Given the description of an element on the screen output the (x, y) to click on. 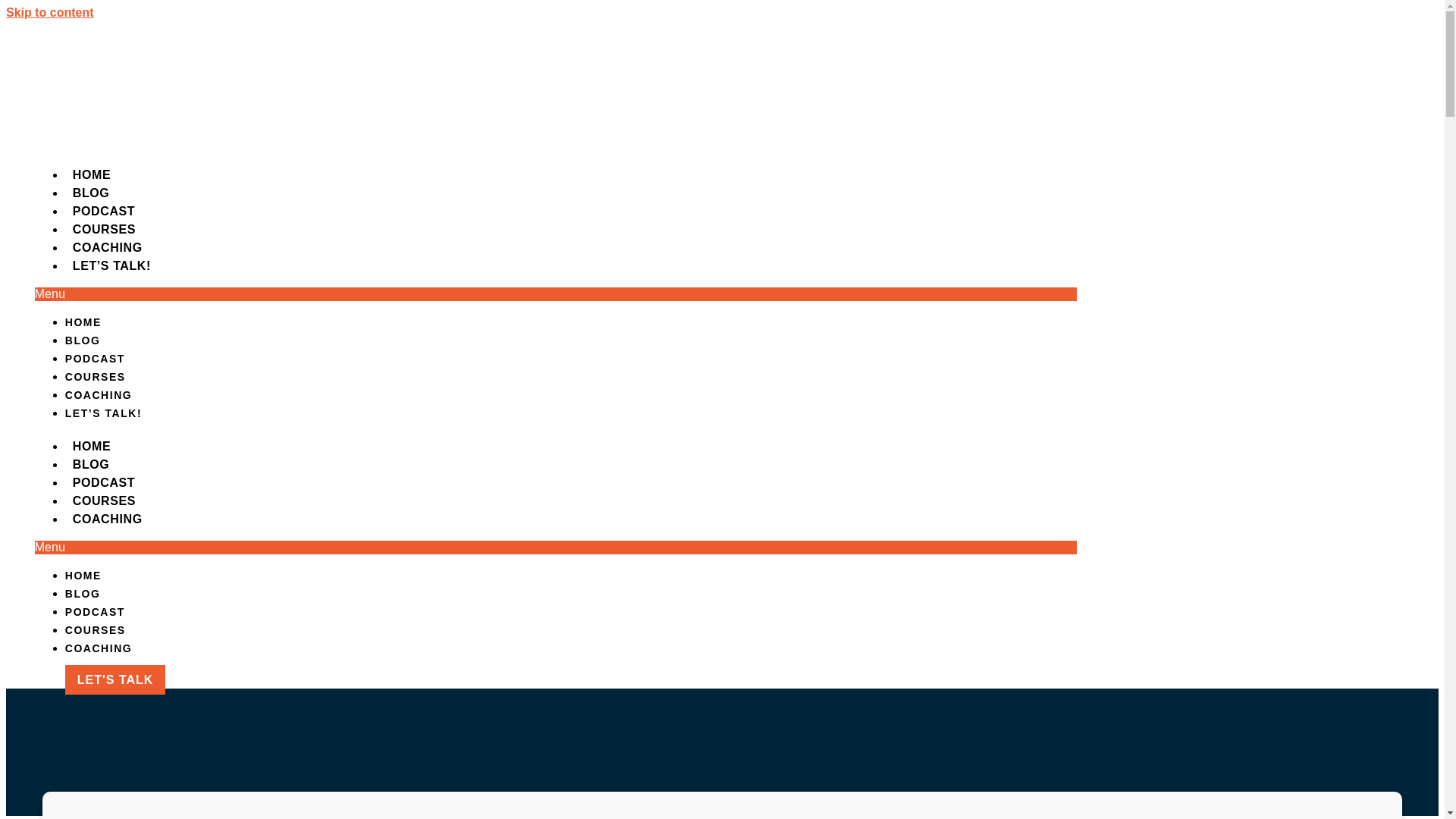
PODCAST (1019, 64)
Does asking questions make you a judgmental person? (162, 548)
BLOG (925, 64)
August 4, 2023 (578, 320)
HOME (841, 64)
COURSES (1128, 64)
Quantum Parts Courage: Definition of Bravery (169, 419)
COACHING (1240, 64)
Finding Your Integrity: Core Values to Live By (181, 806)
Dan Munro (499, 320)
LET'S TALK (1363, 65)
No Comments (664, 320)
Simone Biles: Arrogant, or Honest? (163, 320)
Celebrating 10 Years of Brojo! (149, 365)
